Given the description of an element on the screen output the (x, y) to click on. 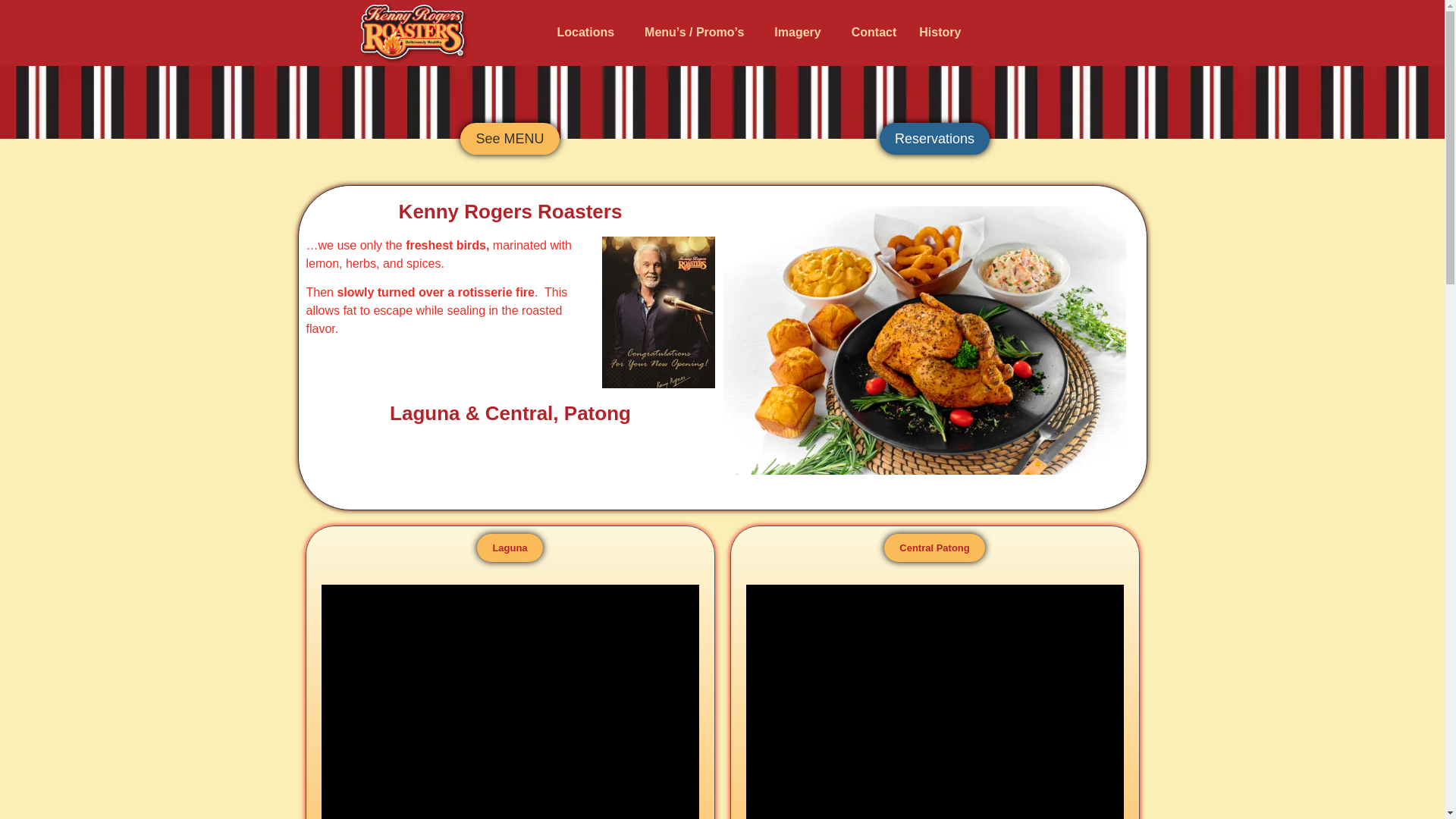
Imagery (801, 32)
Central Patong (933, 547)
See MENU (509, 138)
Reservations (934, 138)
Contact (874, 32)
History (939, 32)
Locations (589, 32)
Laguna (509, 547)
